Given the description of an element on the screen output the (x, y) to click on. 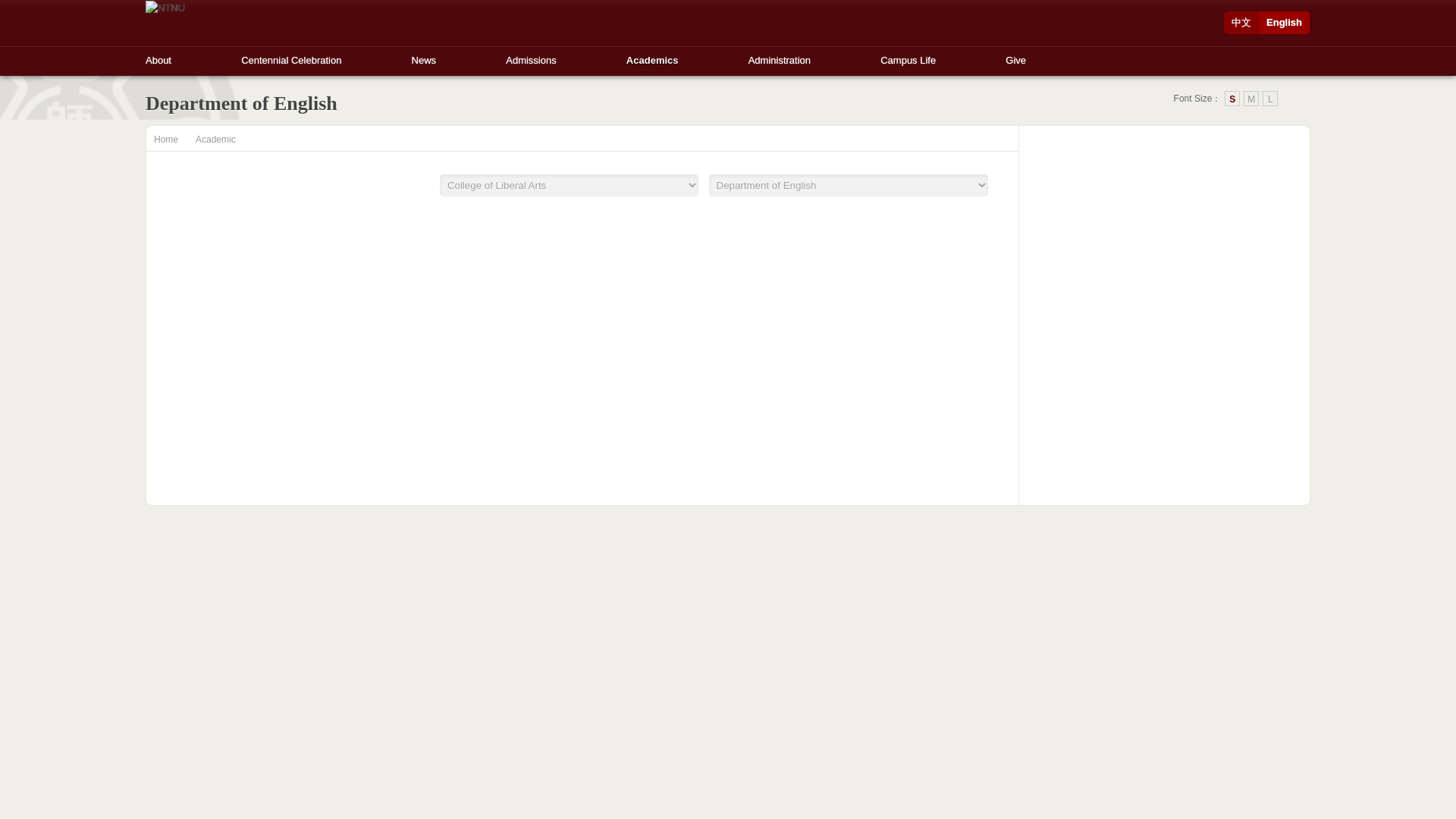
NTNU (164, 7)
Home (165, 139)
English (1284, 22)
Administration (779, 56)
L (1270, 98)
Campus Life (908, 56)
News (424, 56)
Academic (215, 139)
Give (1016, 56)
Centennial Celebration (290, 56)
S (1232, 98)
About (158, 56)
Academics (652, 56)
M (1251, 98)
Admissions (530, 56)
